Given the description of an element on the screen output the (x, y) to click on. 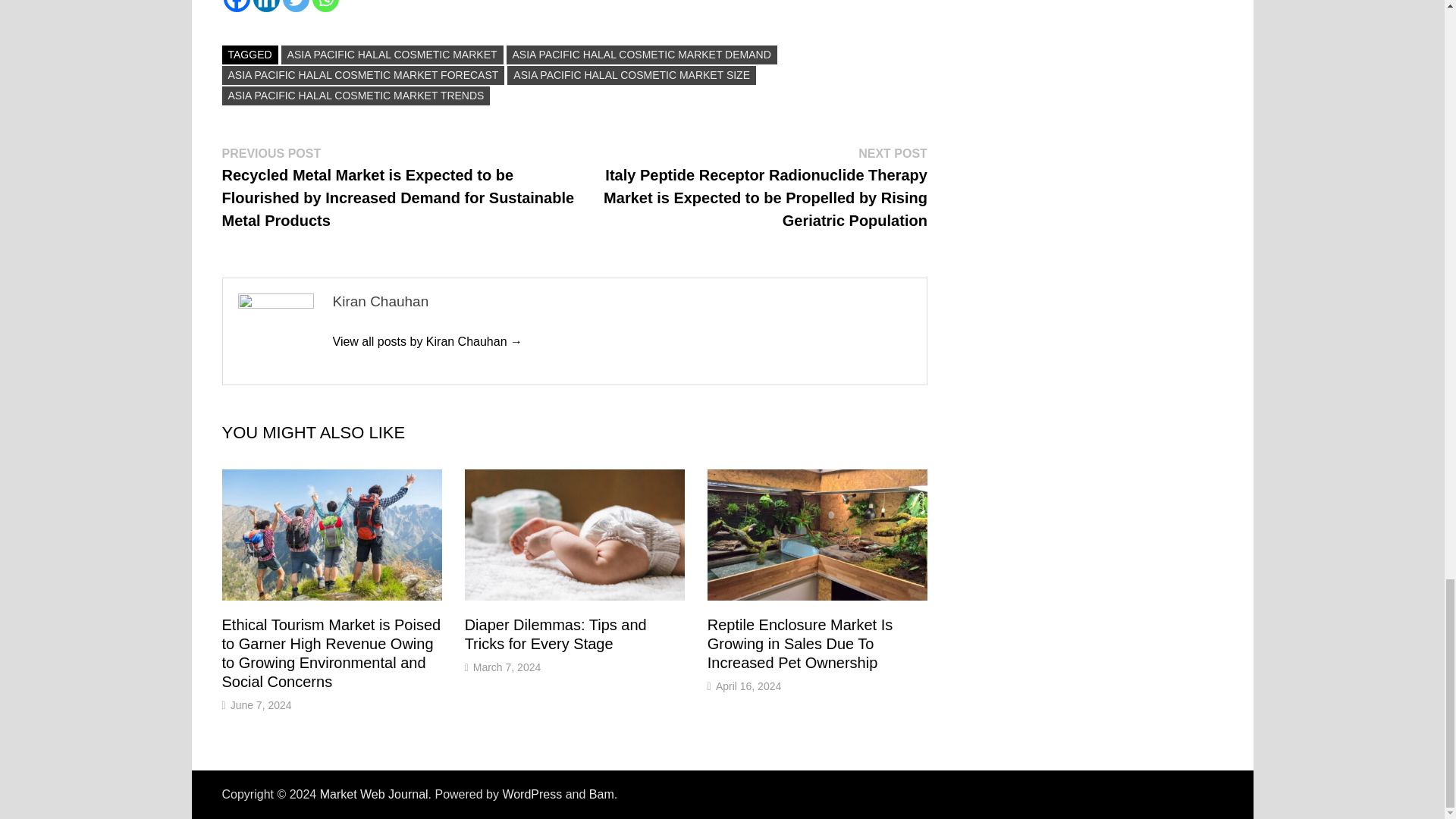
Twitter (295, 6)
Market Web Journal (374, 793)
Linkedin (266, 6)
Whatsapp (326, 6)
Diaper Dilemmas: Tips and Tricks for Every Stage (555, 633)
Facebook (235, 6)
Kiran Chauhan (426, 341)
